Given the description of an element on the screen output the (x, y) to click on. 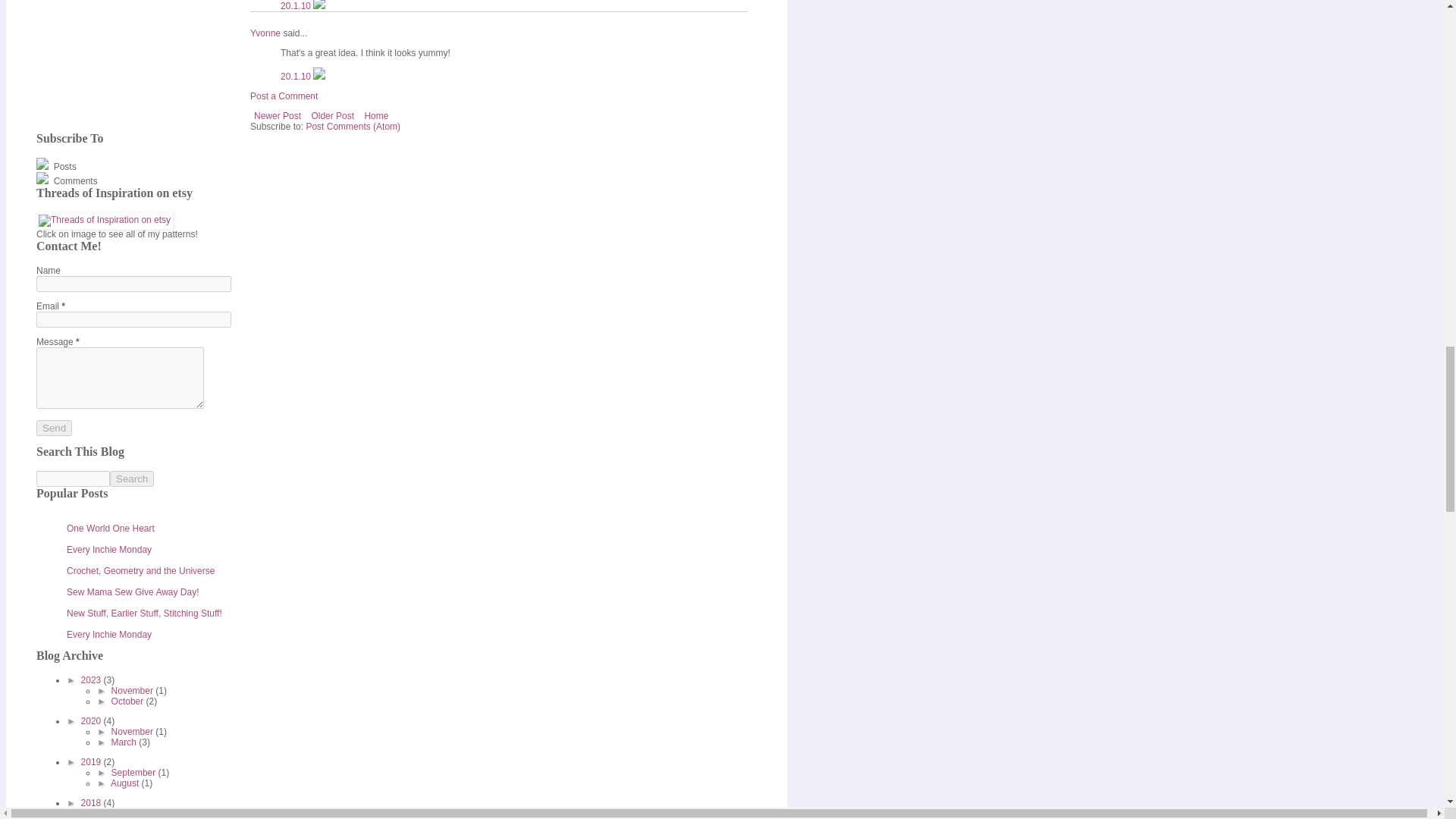
Send (53, 427)
20.1.10 (297, 5)
Search (132, 478)
Search (132, 478)
